Given the description of an element on the screen output the (x, y) to click on. 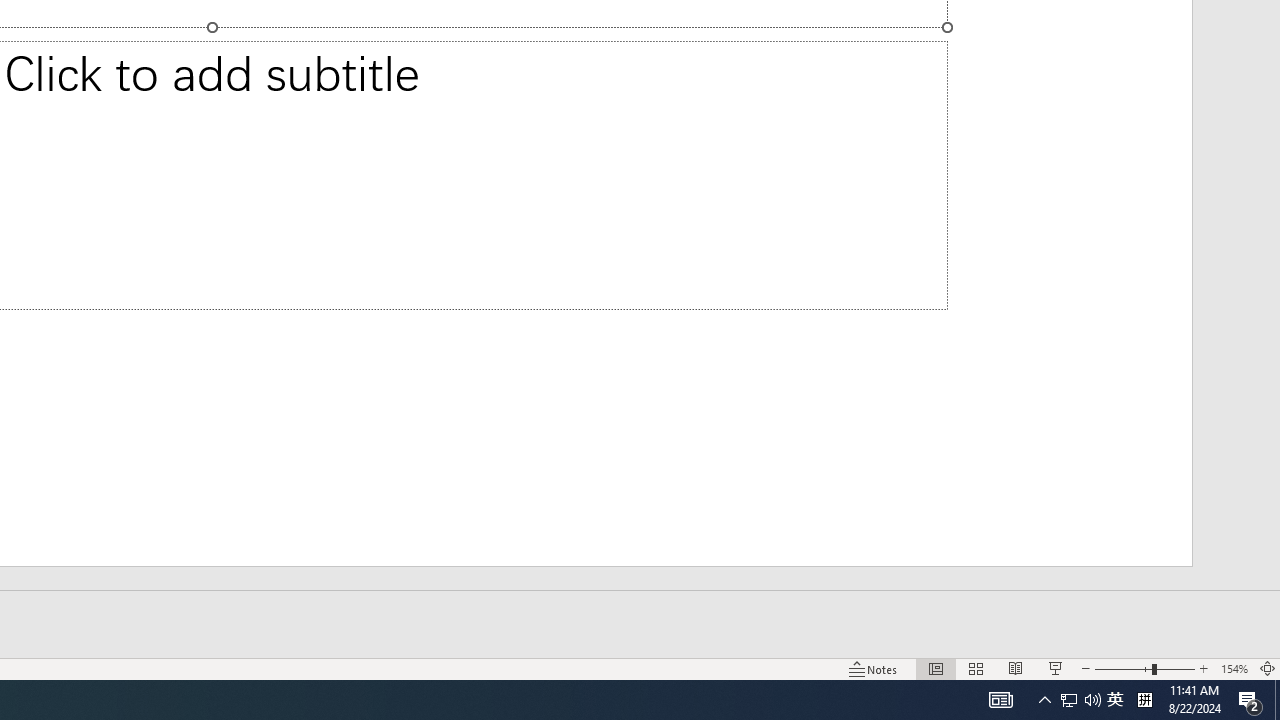
Zoom 154% (1234, 668)
